Given the description of an element on the screen output the (x, y) to click on. 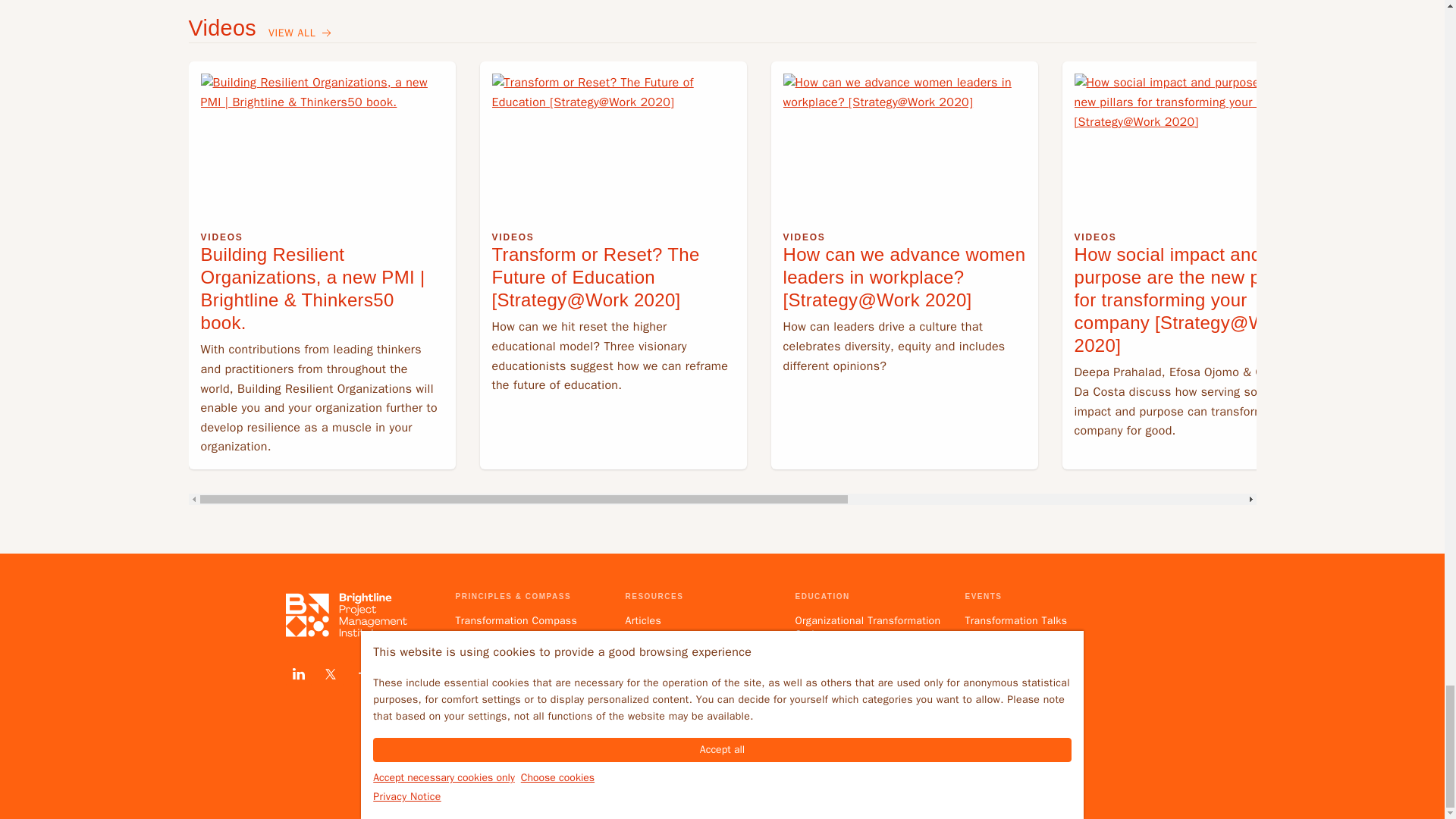
Follow us on LinkedIn (298, 673)
View all Videos (300, 33)
Share on Facebook (361, 673)
Follow us on X (329, 673)
Back to home (345, 613)
